Given the description of an element on the screen output the (x, y) to click on. 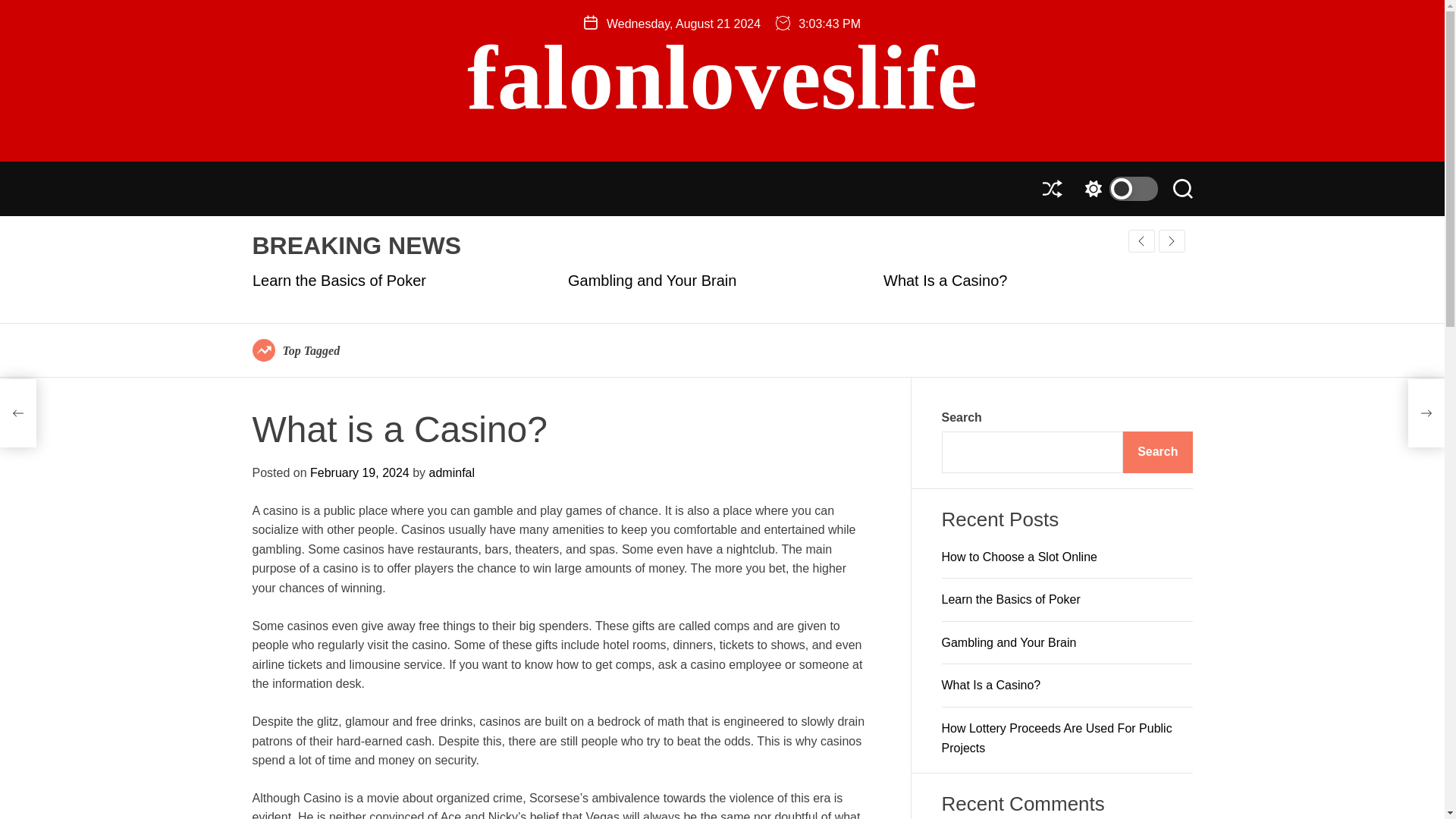
Learn the Basics of Poker (338, 280)
February 19, 2024 (359, 472)
How Lottery Proceeds Are Used For Public Projects (1057, 737)
What Is a Casino? (944, 280)
adminfal (451, 472)
How to Choose a Slot Online (1019, 556)
Switch color mode (1117, 188)
Gambling and Your Brain (651, 280)
Learn the Basics of Poker (1011, 599)
Search (1157, 452)
